Given the description of an element on the screen output the (x, y) to click on. 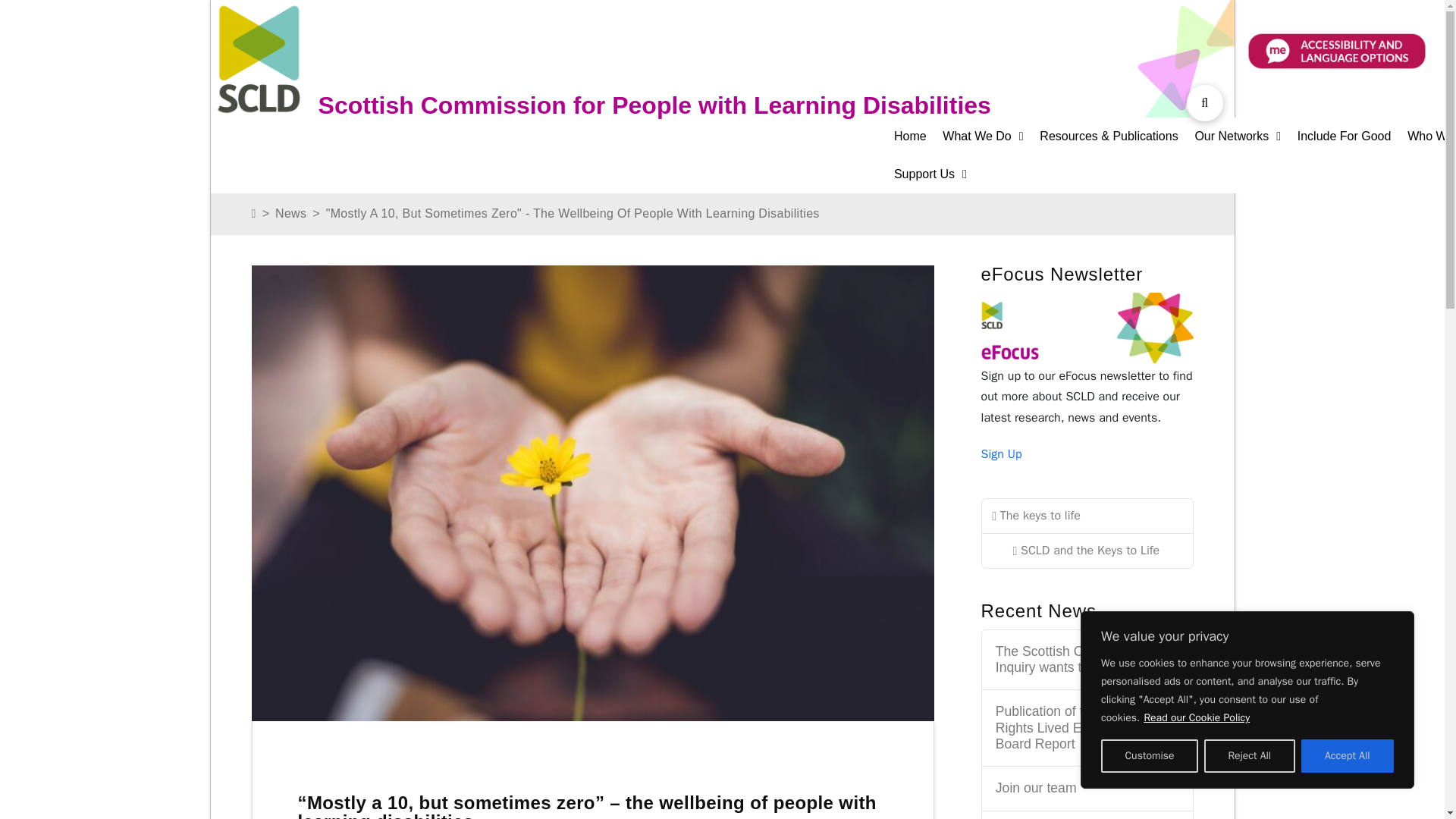
Home (917, 136)
Who We Are (1431, 136)
Customise (1149, 756)
Read our Cookie Policy (1196, 717)
Include For Good (1352, 136)
You Are Here (572, 213)
Our Networks (1245, 136)
Accept All (1347, 756)
What We Do (990, 136)
Reject All (1249, 756)
